Given the description of an element on the screen output the (x, y) to click on. 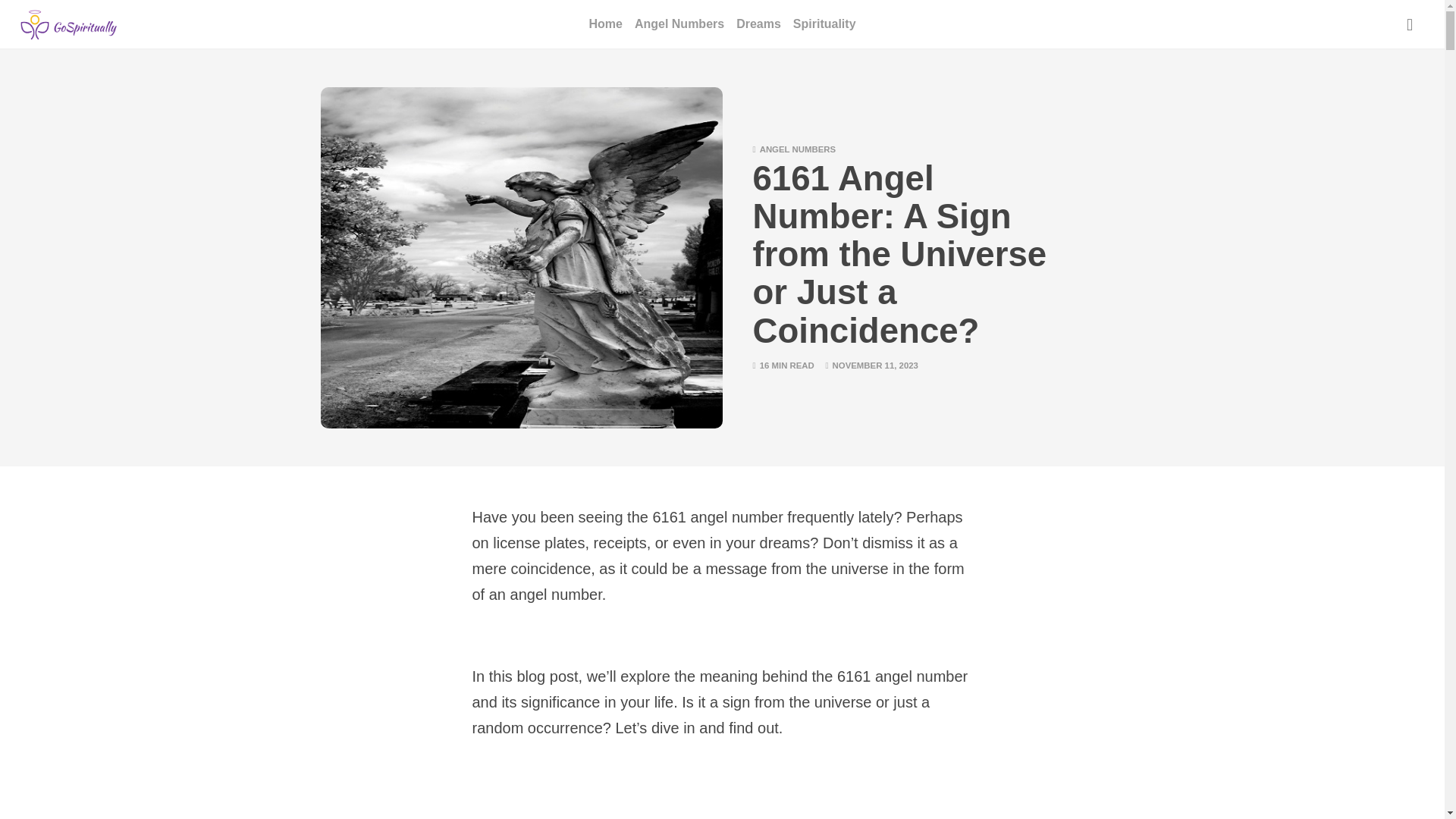
Spirituality (824, 24)
Angel Numbers (678, 24)
ANGEL NUMBERS (797, 148)
Dreams (758, 24)
